Given the description of an element on the screen output the (x, y) to click on. 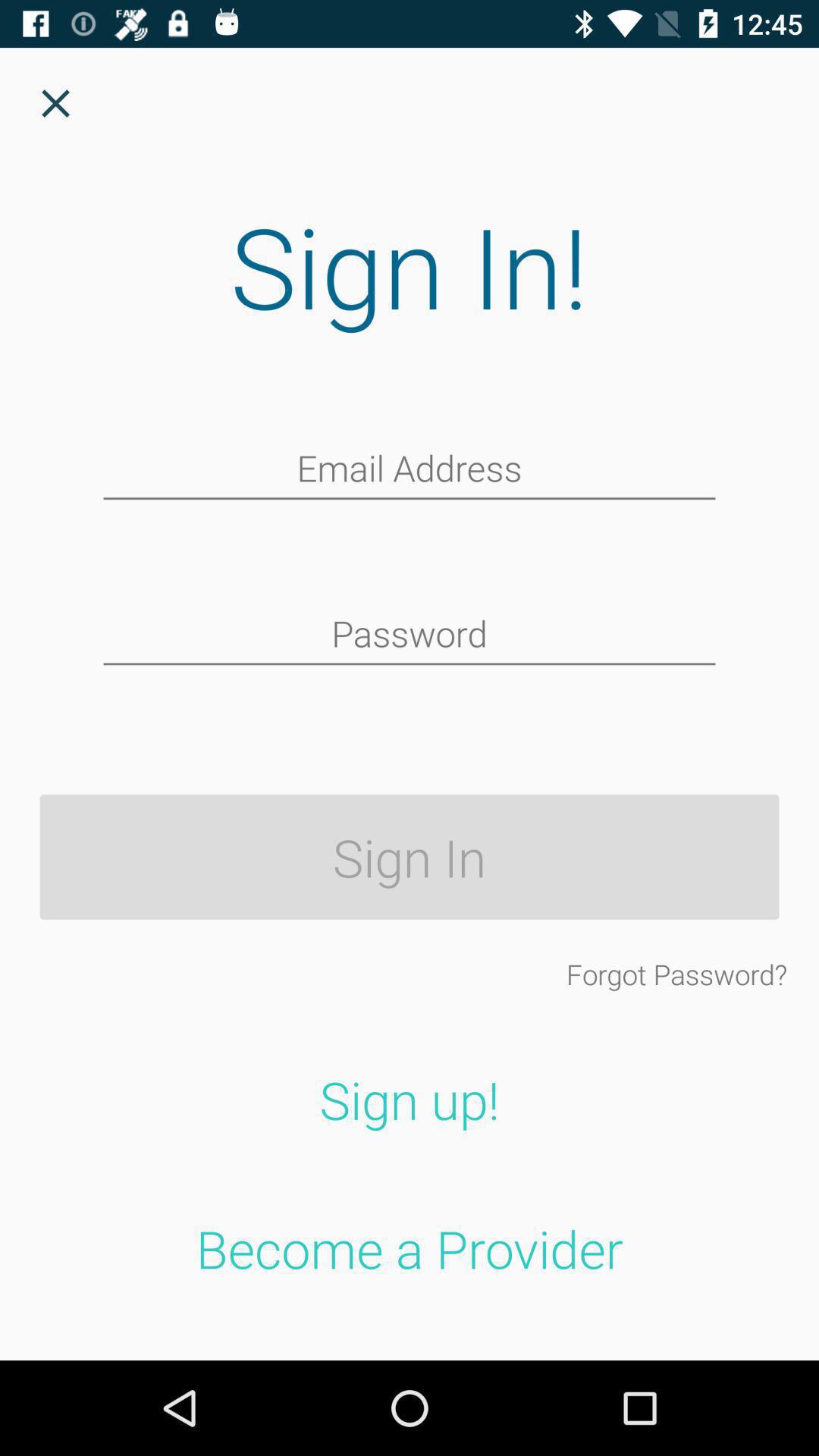
enter password (409, 635)
